Given the description of an element on the screen output the (x, y) to click on. 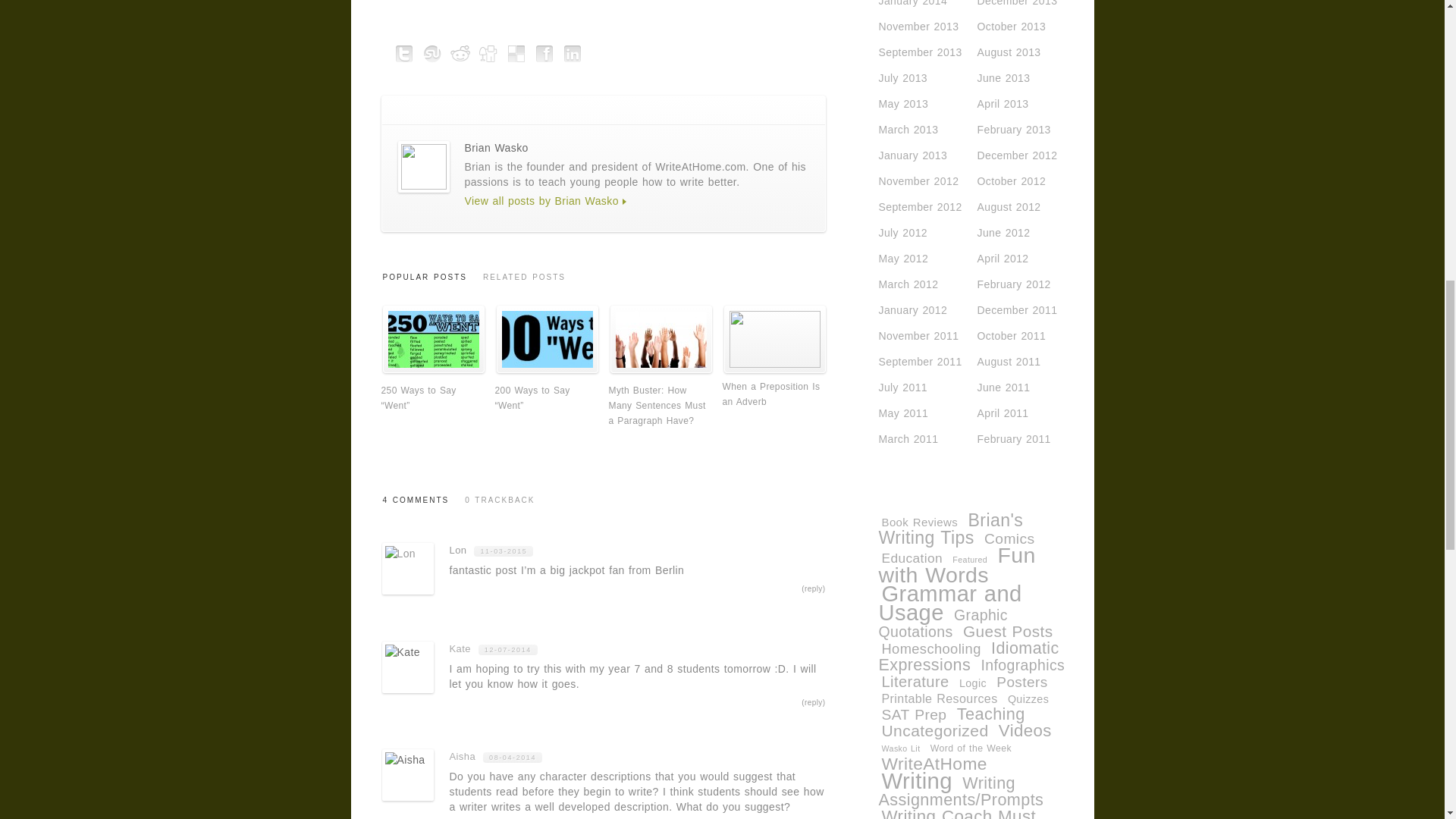
Myth Buster: How Many Sentences Must a Paragraph Have? (660, 370)
Myth Buster: How Many Sentences Must a Paragraph Have? (660, 339)
Myth Buster: How Many Sentences Must a Paragraph Have? (656, 404)
When a Preposition Is an Adverb (774, 363)
When a Preposition Is an Adverb (774, 339)
RELATED POSTS (523, 282)
POPULAR POSTS (424, 282)
View all posts by Brian Wasko (540, 200)
